Given the description of an element on the screen output the (x, y) to click on. 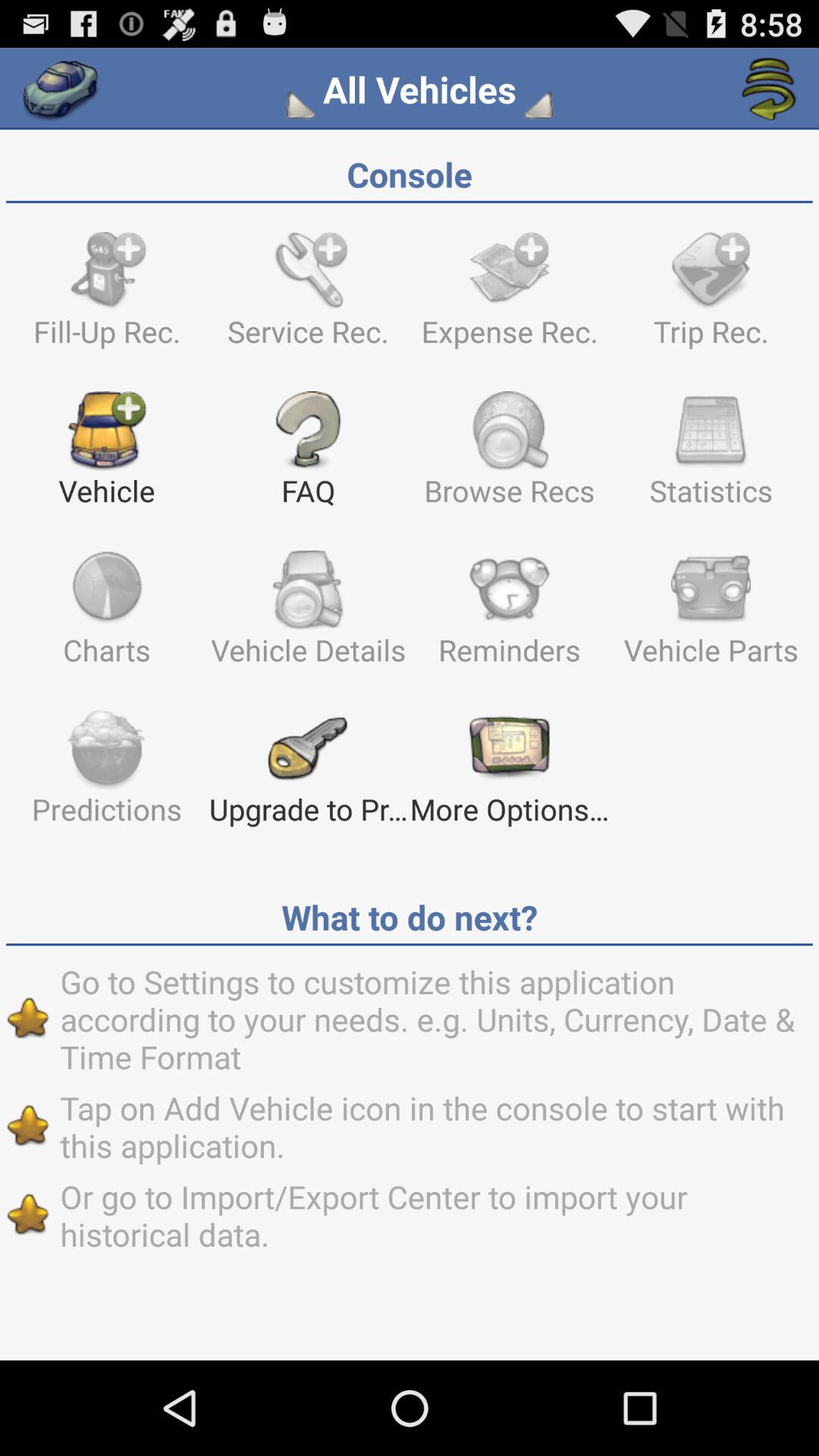
press the icon above the vehicle (106, 296)
